Given the description of an element on the screen output the (x, y) to click on. 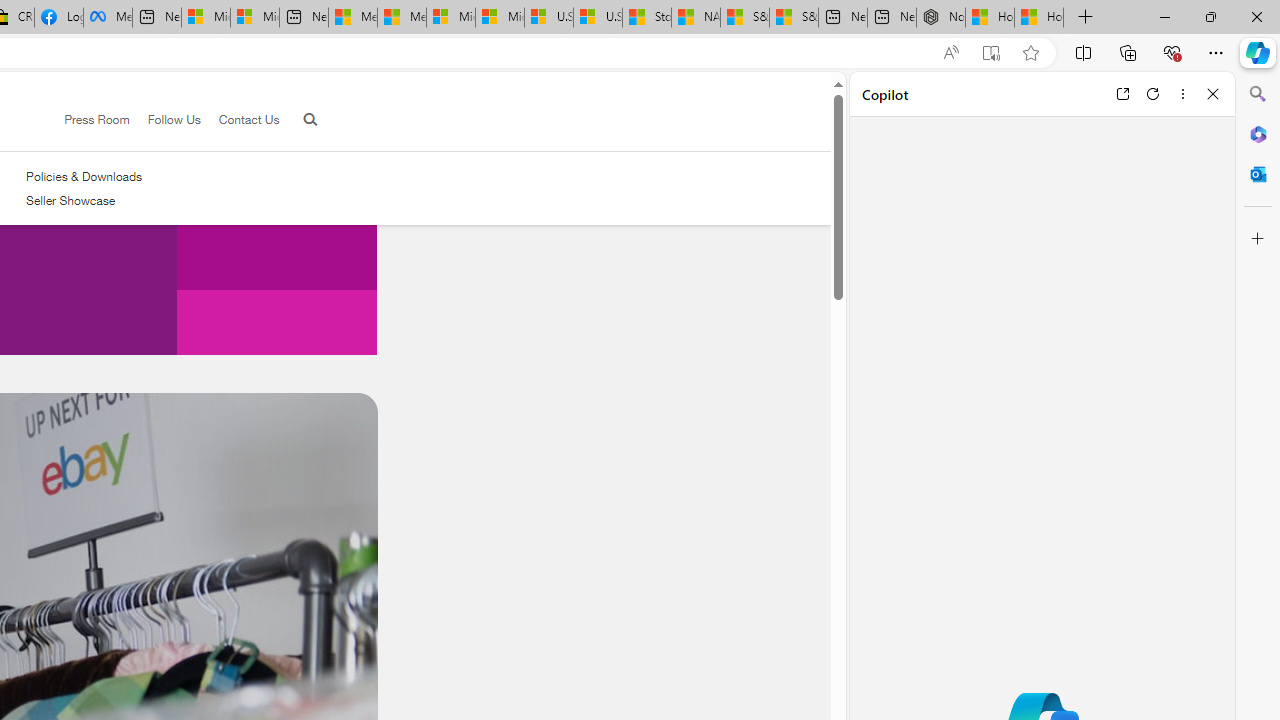
Follow Us (173, 119)
How to Use a Monitor With Your Closed Laptop (1039, 17)
Customize (1258, 239)
Outlook (1258, 174)
Policies & Downloads (84, 176)
Log into Facebook (58, 17)
